Given the description of an element on the screen output the (x, y) to click on. 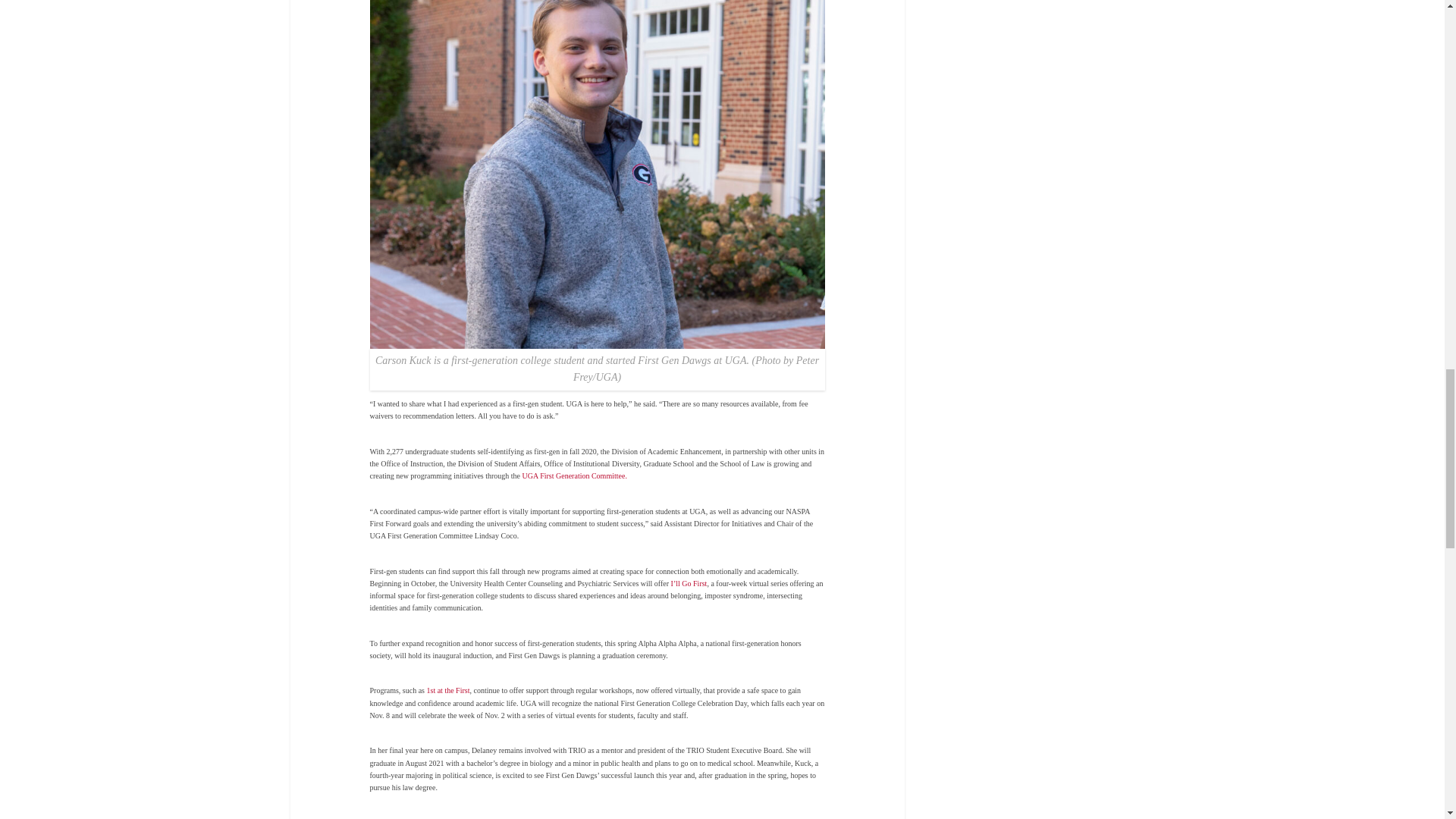
1st at the First (447, 690)
UGA First Generation Committee. (574, 475)
firstgen.uga.edu (683, 818)
